Given the description of an element on the screen output the (x, y) to click on. 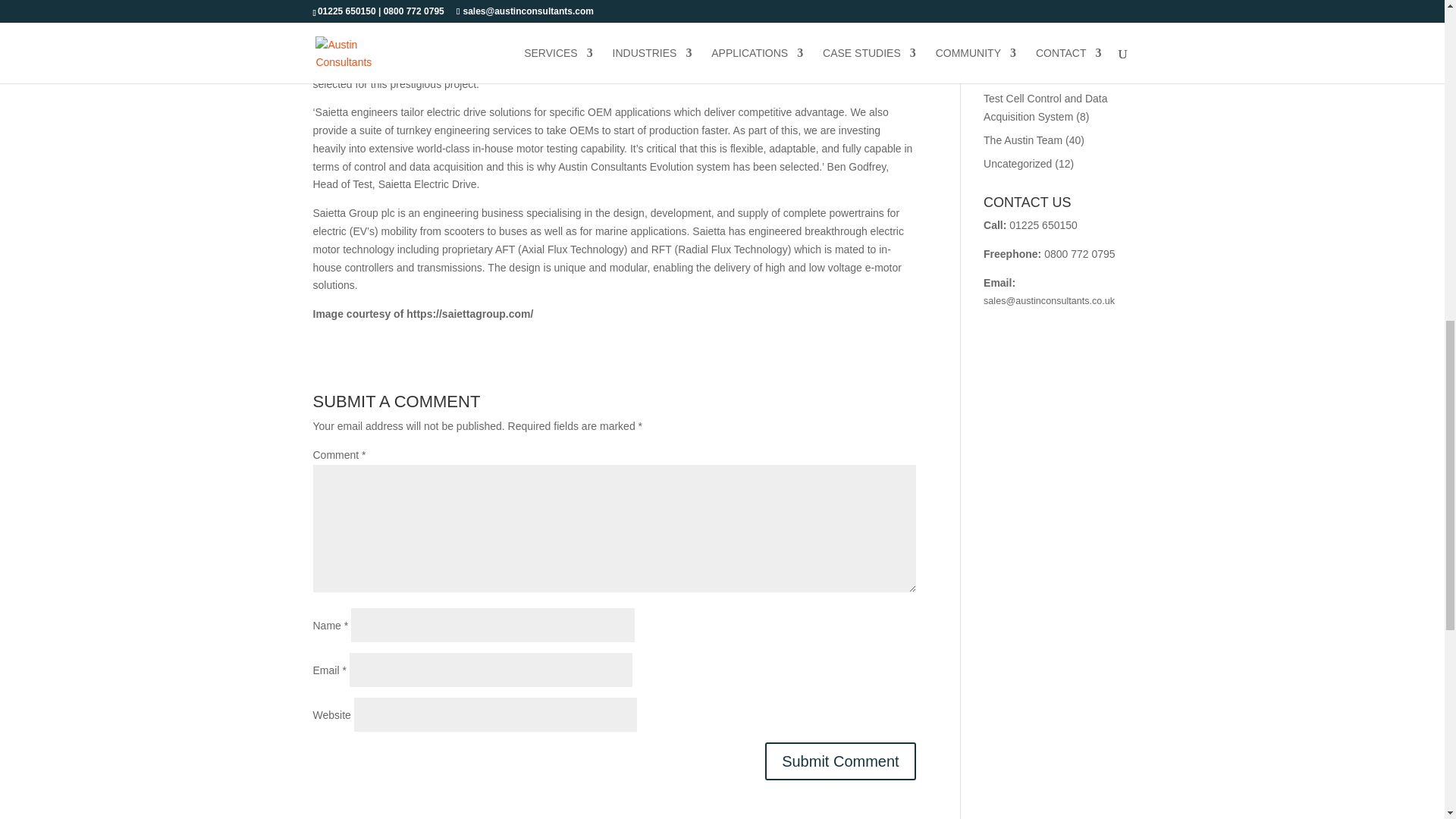
Submit Comment (840, 761)
